Given the description of an element on the screen output the (x, y) to click on. 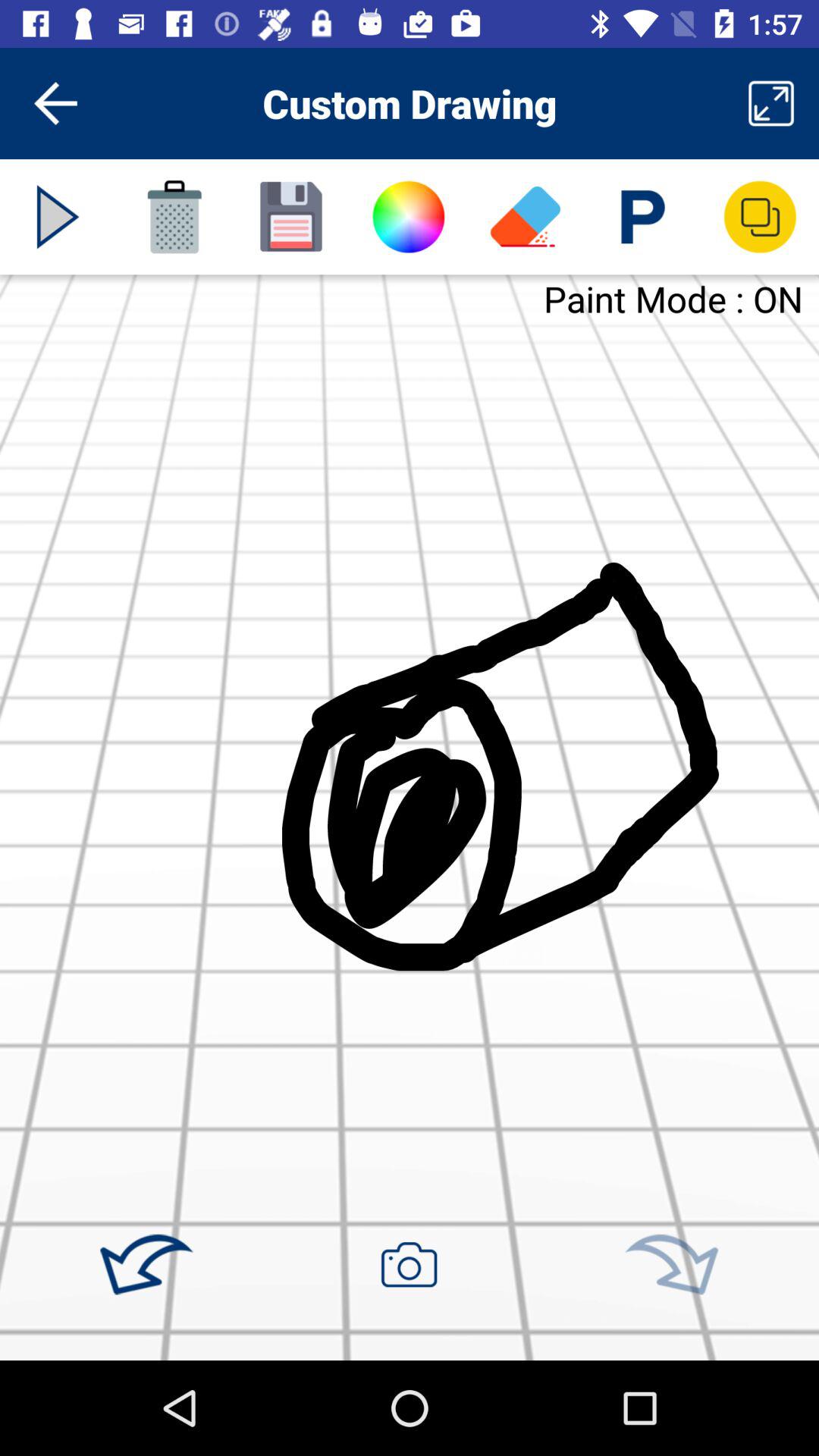
press the icon at the bottom left corner (146, 1264)
